Given the description of an element on the screen output the (x, y) to click on. 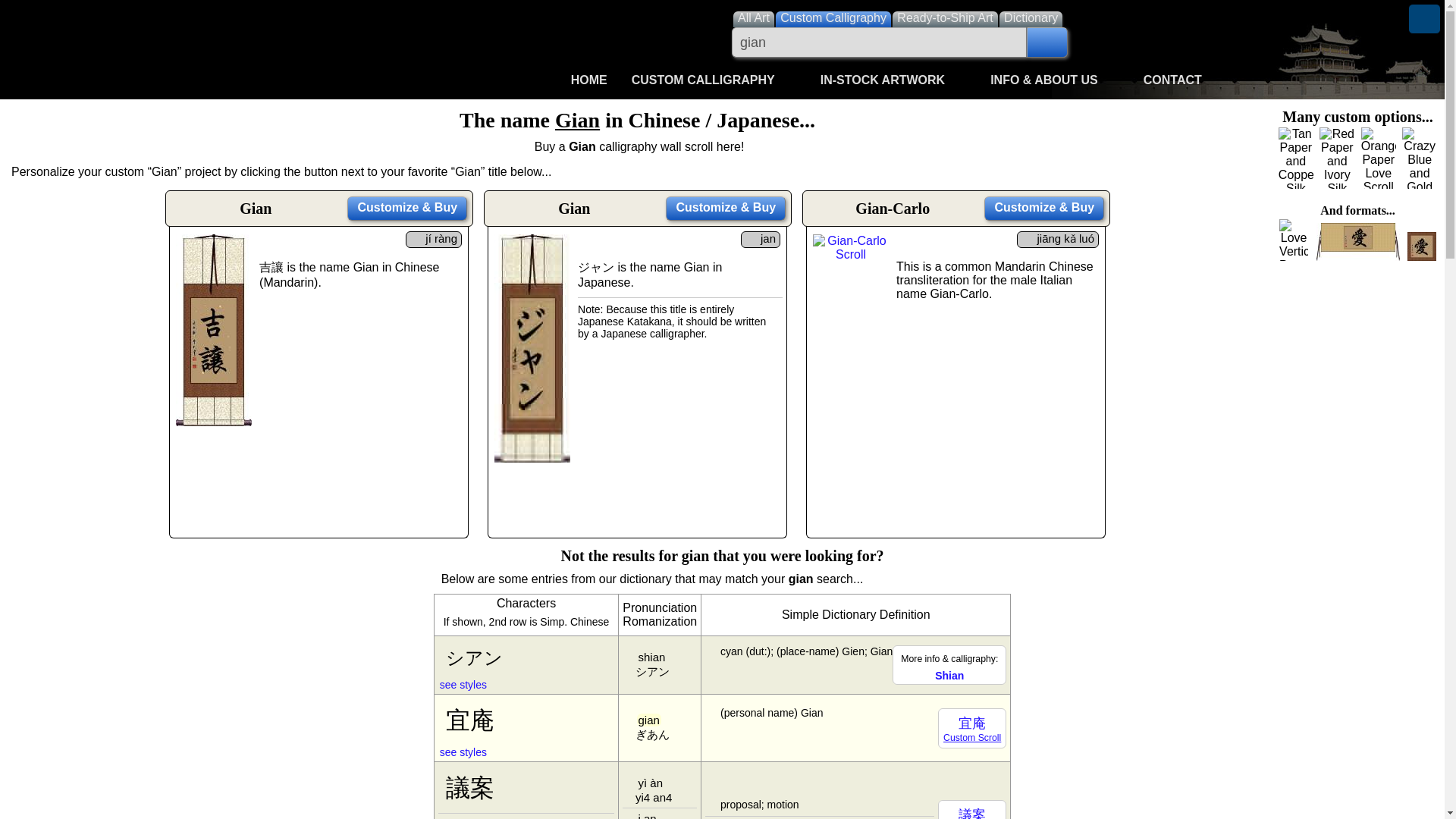
Search the Chinese and Japanese Dictionary (1030, 17)
Click to Open (714, 80)
CUSTOM CALLIGRAPHY (714, 80)
gian (879, 42)
Enter what you want to search for here (879, 42)
Search! (1046, 42)
Search for Ready-to-Ship Artwork and Calligraphy (944, 17)
Search for Custom Japanese and Chinese Calligraphy Titles (832, 17)
gian (879, 42)
Click to Open (893, 80)
HOME (589, 80)
Search for all types of artwork (753, 17)
